Given the description of an element on the screen output the (x, y) to click on. 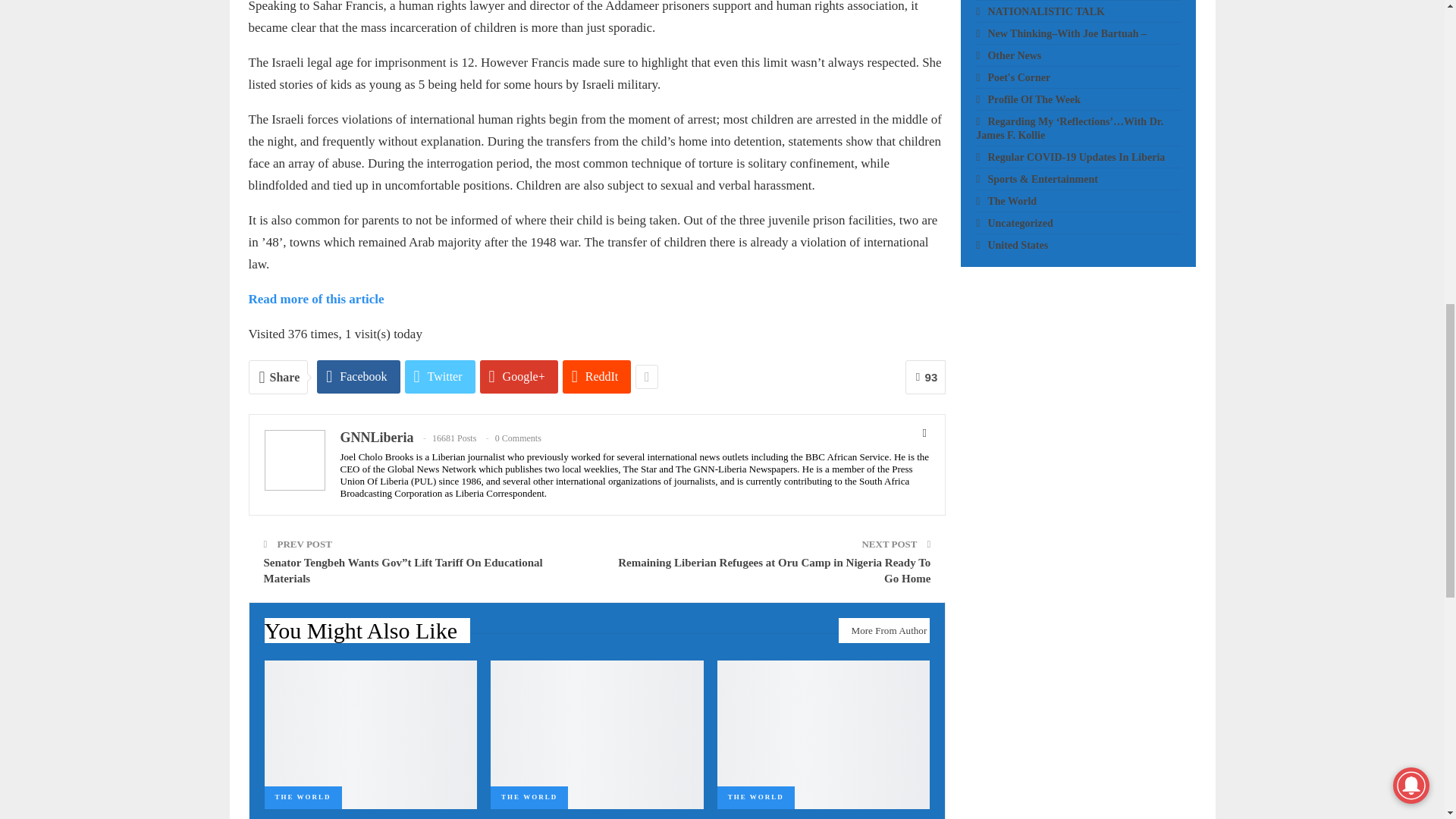
GNNLiberia (376, 437)
More From Author (884, 630)
ReddIt (596, 376)
Twitter (440, 376)
Read more of this article (316, 298)
